Given the description of an element on the screen output the (x, y) to click on. 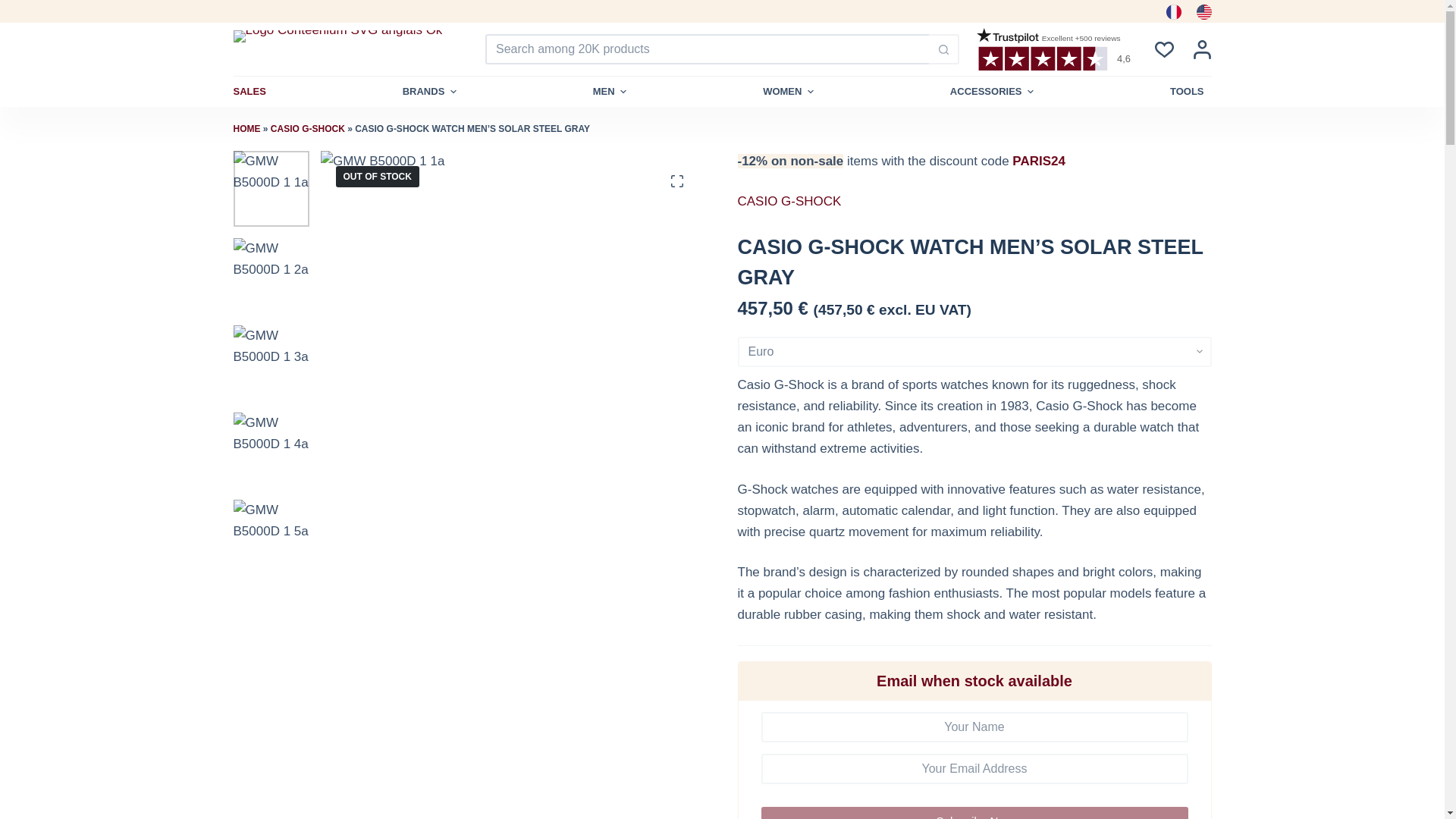
GMW B5000D 1 3a (270, 363)
GMW B5000D 1 2a (270, 275)
GMW B5000D 1 1a (270, 188)
GMW B5000D 1 4a (270, 450)
Search for... (706, 49)
GMW B5000D 1 5a (270, 537)
Skip to content (15, 7)
Subscribe Now (974, 812)
